Given the description of an element on the screen output the (x, y) to click on. 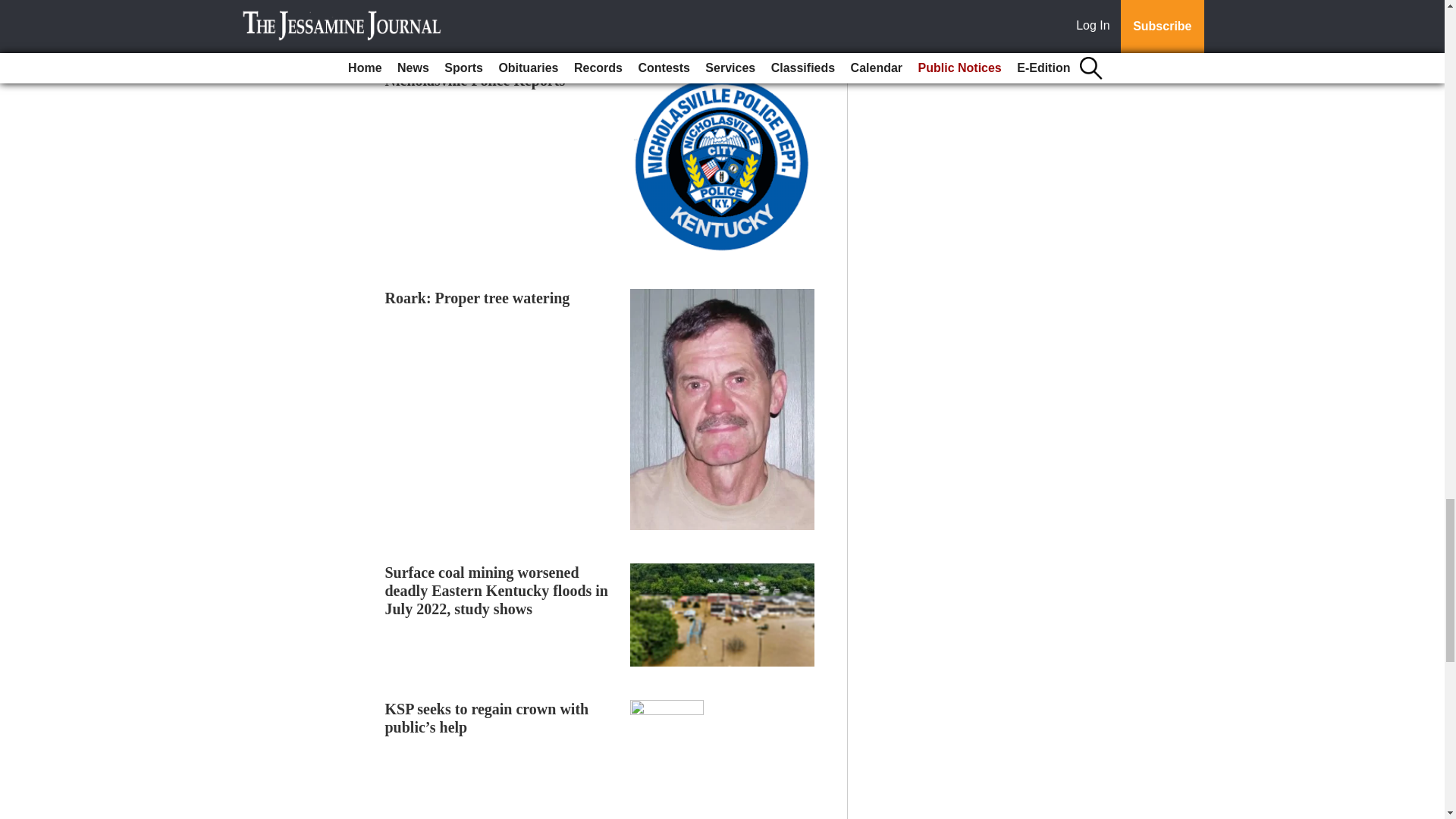
Nicholasville Police Reports (475, 80)
Roark: Proper tree watering (477, 297)
Roark: Proper tree watering (477, 297)
Nicholasville Police Reports (475, 80)
